Given the description of an element on the screen output the (x, y) to click on. 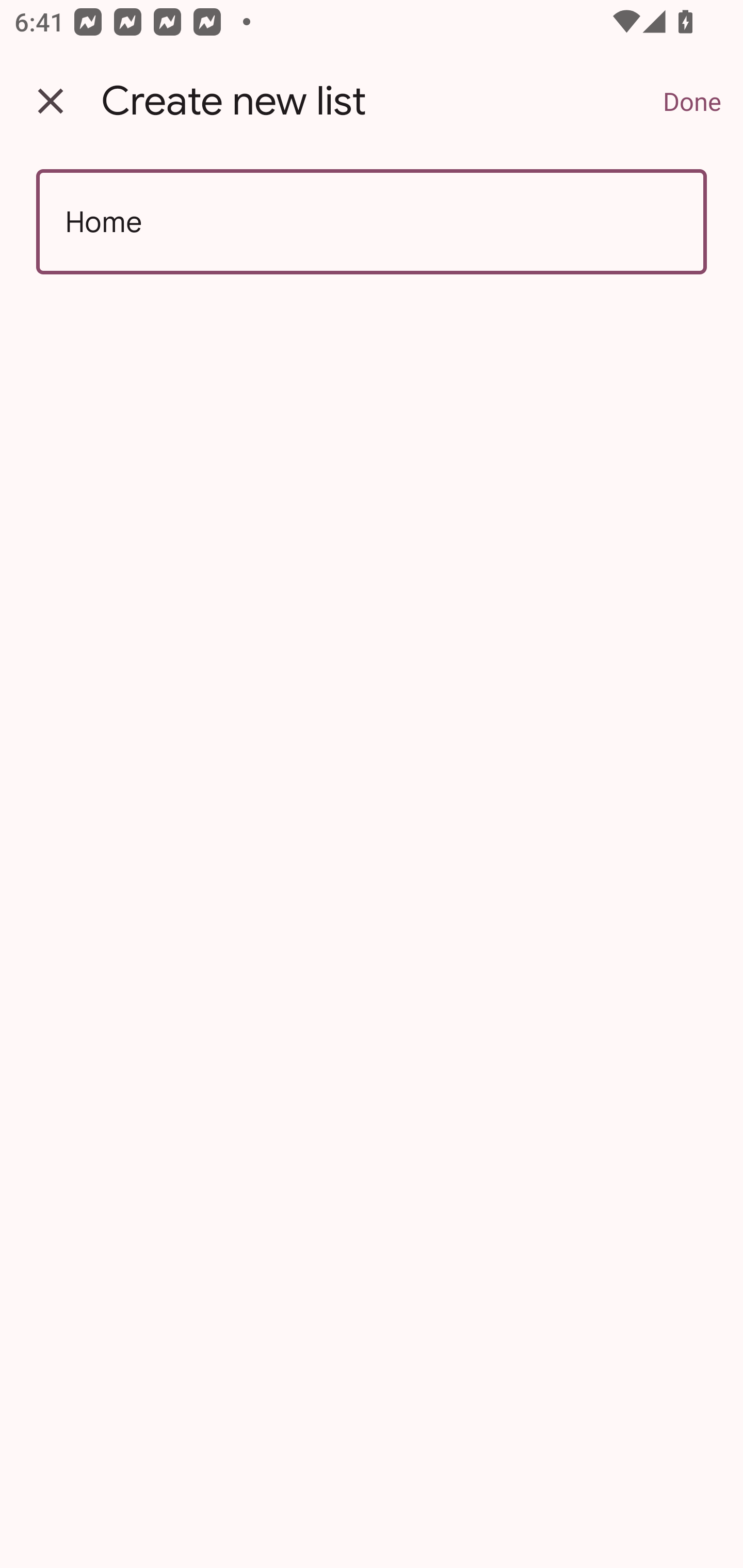
Back (50, 101)
Done (692, 101)
Home (371, 221)
